Given the description of an element on the screen output the (x, y) to click on. 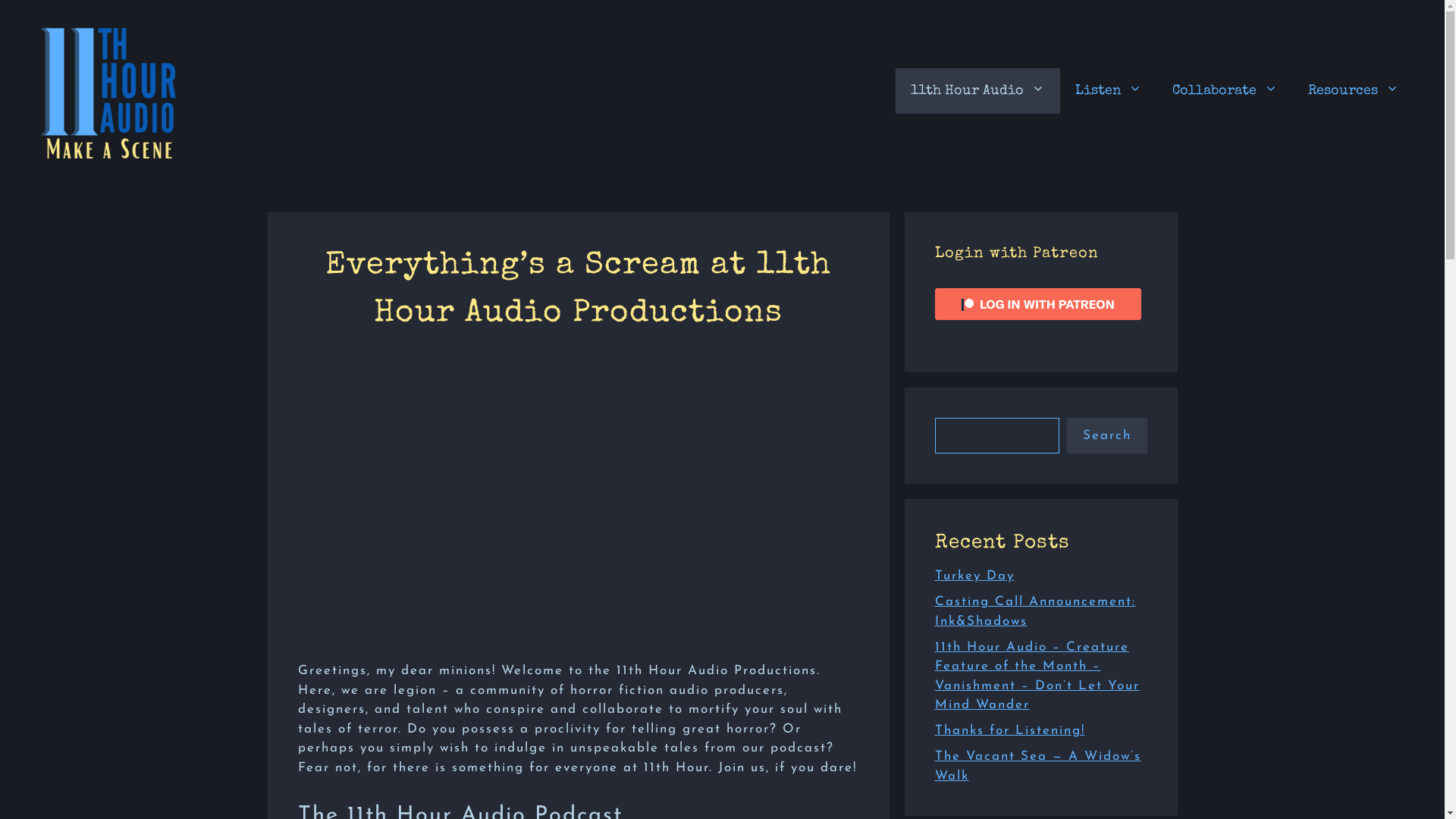
Collaborate Element type: text (1224, 90)
Resources Element type: text (1353, 90)
Search Element type: text (1106, 435)
Turkey Day Element type: text (973, 575)
11th Hour Audio Element type: text (977, 90)
Casting Call Announcement: Ink&Shadows Element type: text (1034, 611)
RIP to Old Stories Element type: hover (577, 503)
Listen Element type: text (1108, 90)
Thanks for Listening! Element type: text (1009, 730)
